Given the description of an element on the screen output the (x, y) to click on. 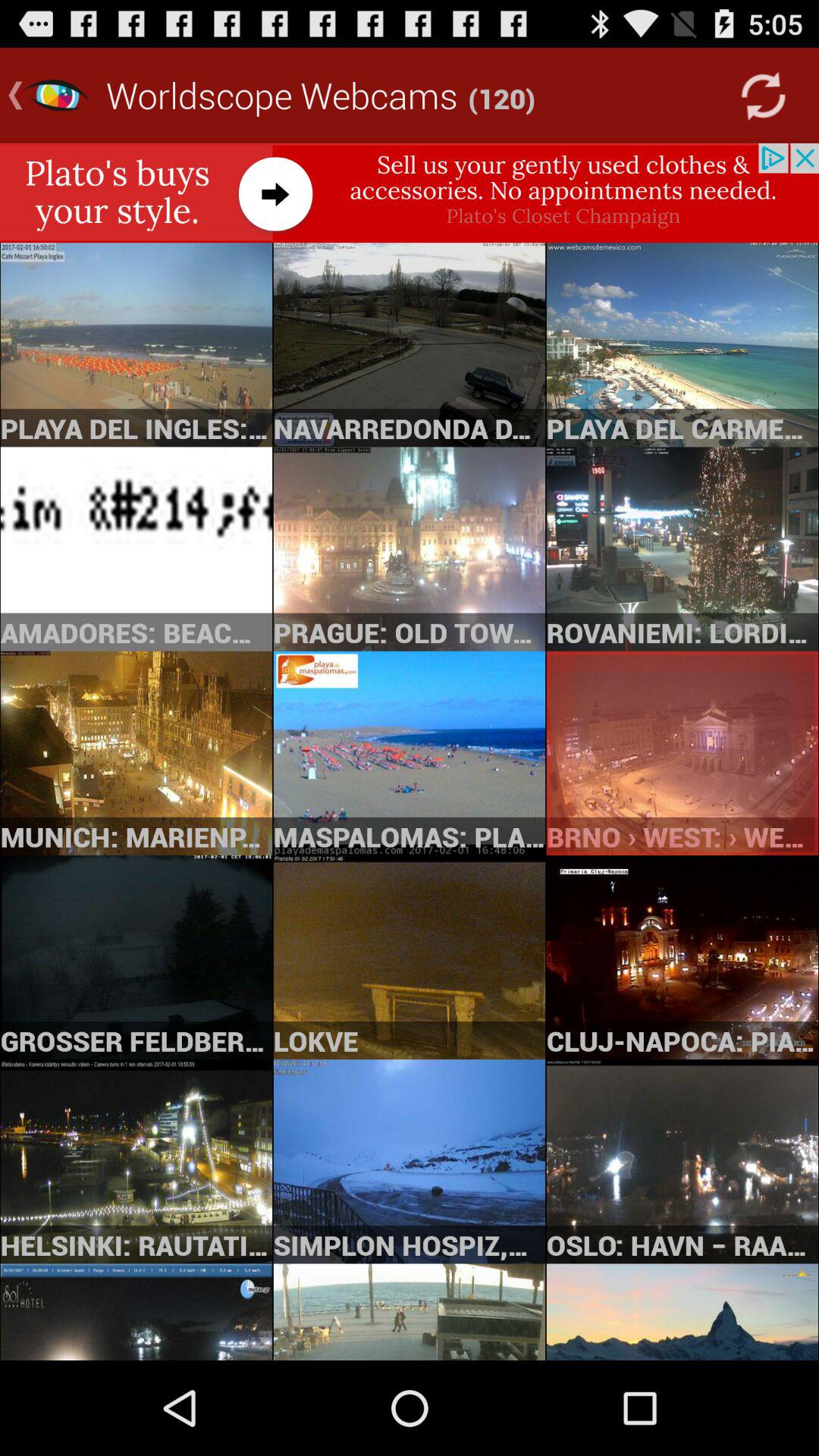
advertisement (409, 192)
